Given the description of an element on the screen output the (x, y) to click on. 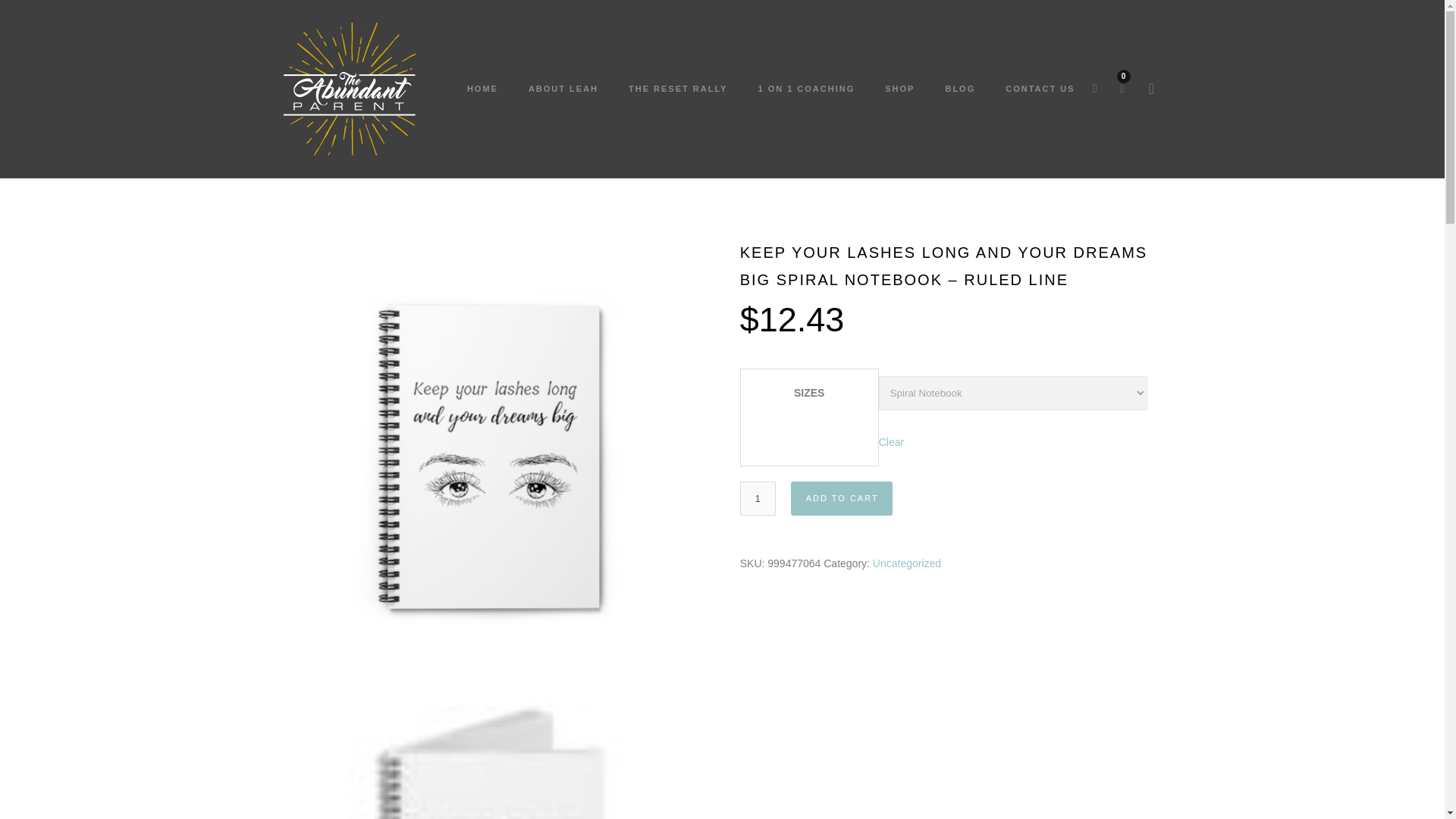
View your shopping cart (1122, 76)
1 (757, 498)
BLOG (960, 88)
CONTACT US (1032, 88)
0 (1122, 76)
34240-1.jpg (493, 744)
Qty (757, 498)
SHOP (899, 88)
HOME (482, 88)
ABOUT LEAH (562, 88)
Sidebar Menu Controller (1150, 89)
THE RESET RALLY (677, 88)
1 ON 1 COACHING (805, 88)
